Given the description of an element on the screen output the (x, y) to click on. 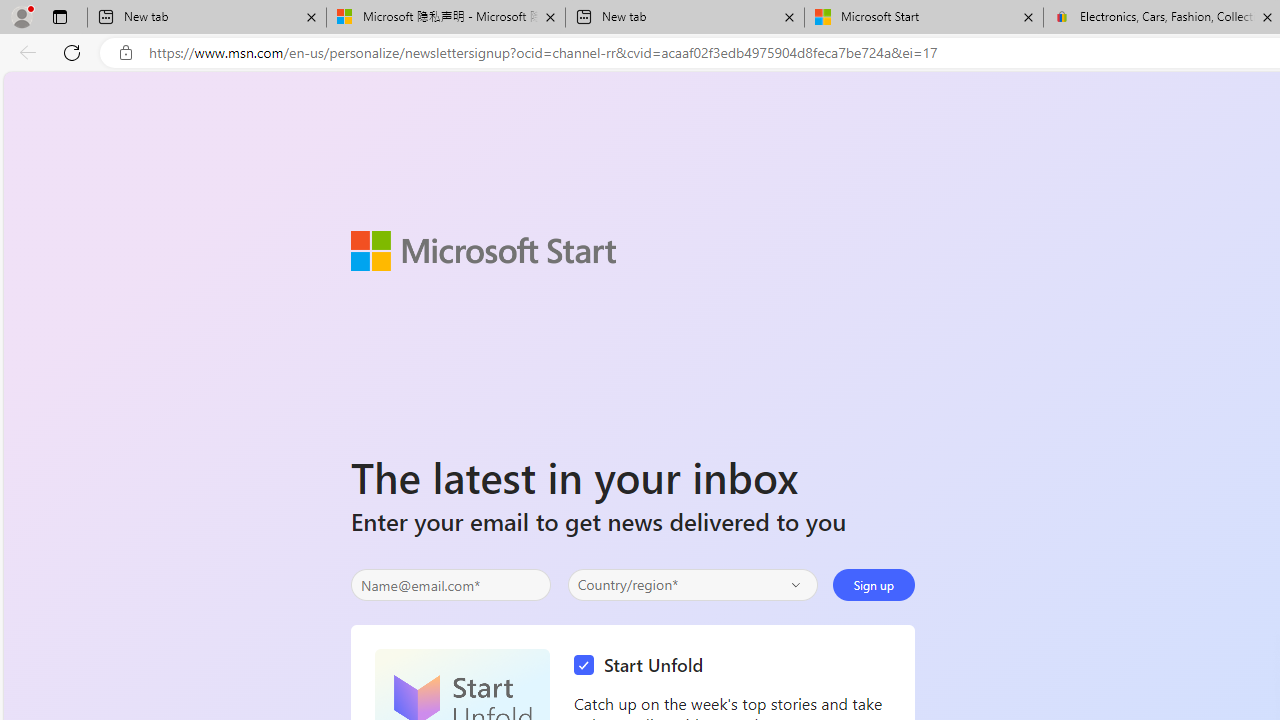
Select your country (692, 584)
Enter your email (450, 585)
Sign up (873, 584)
Start Unfold (643, 665)
